Given the description of an element on the screen output the (x, y) to click on. 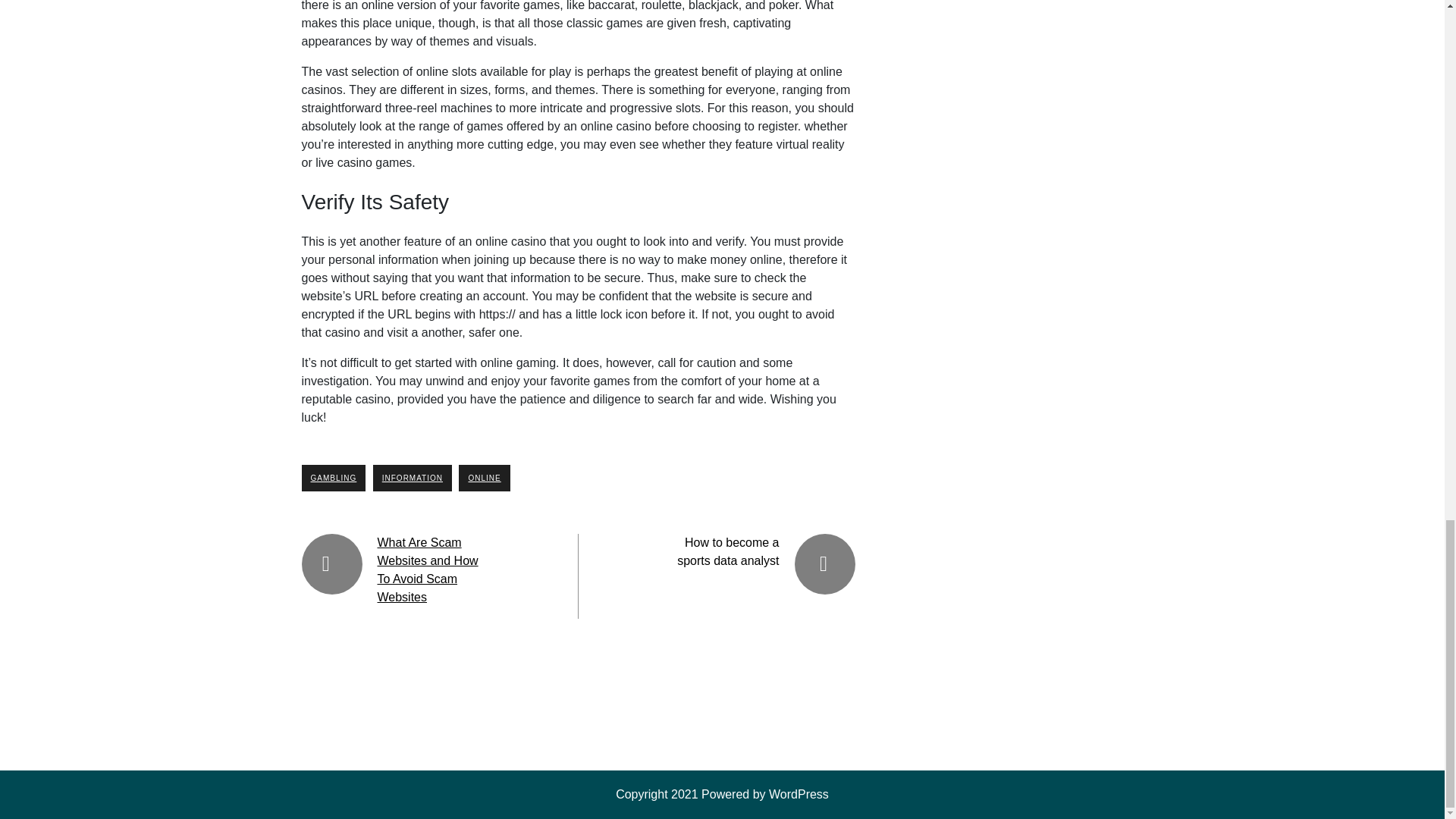
What Are Scam Websites and How To Avoid Scam Websites (428, 569)
ONLINE (483, 478)
How to become a sports data analyst (727, 551)
INFORMATION (411, 478)
GAMBLING (333, 478)
